Given the description of an element on the screen output the (x, y) to click on. 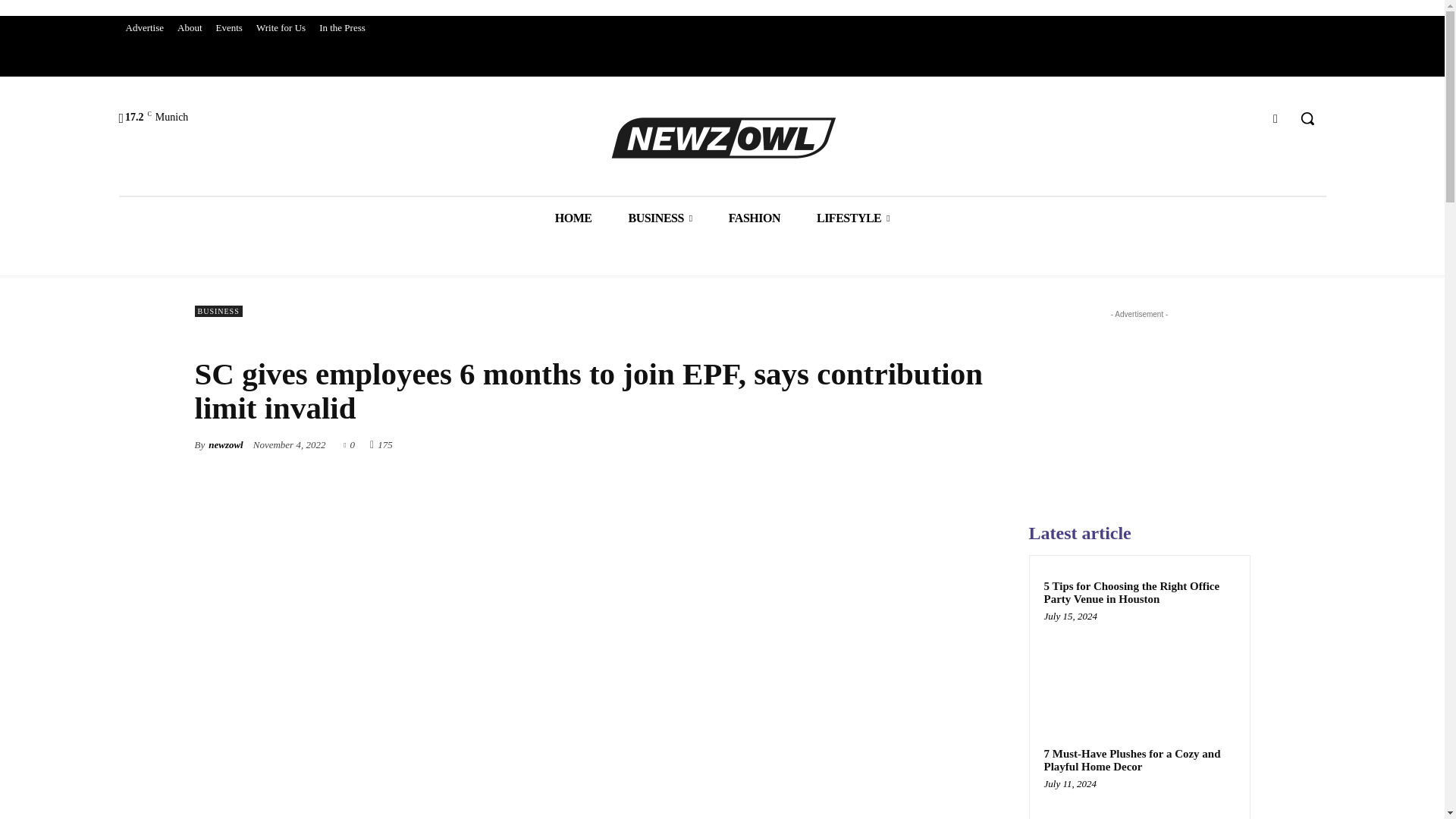
Events (228, 27)
BUSINESS (217, 310)
HOME (573, 218)
FASHION (753, 218)
Facebook (1275, 118)
Write for Us (280, 27)
BUSINESS (660, 218)
newzowl (225, 444)
LIFESTYLE (852, 218)
Advertise (143, 27)
In the Press (342, 27)
About (189, 27)
0 (349, 443)
